Given the description of an element on the screen output the (x, y) to click on. 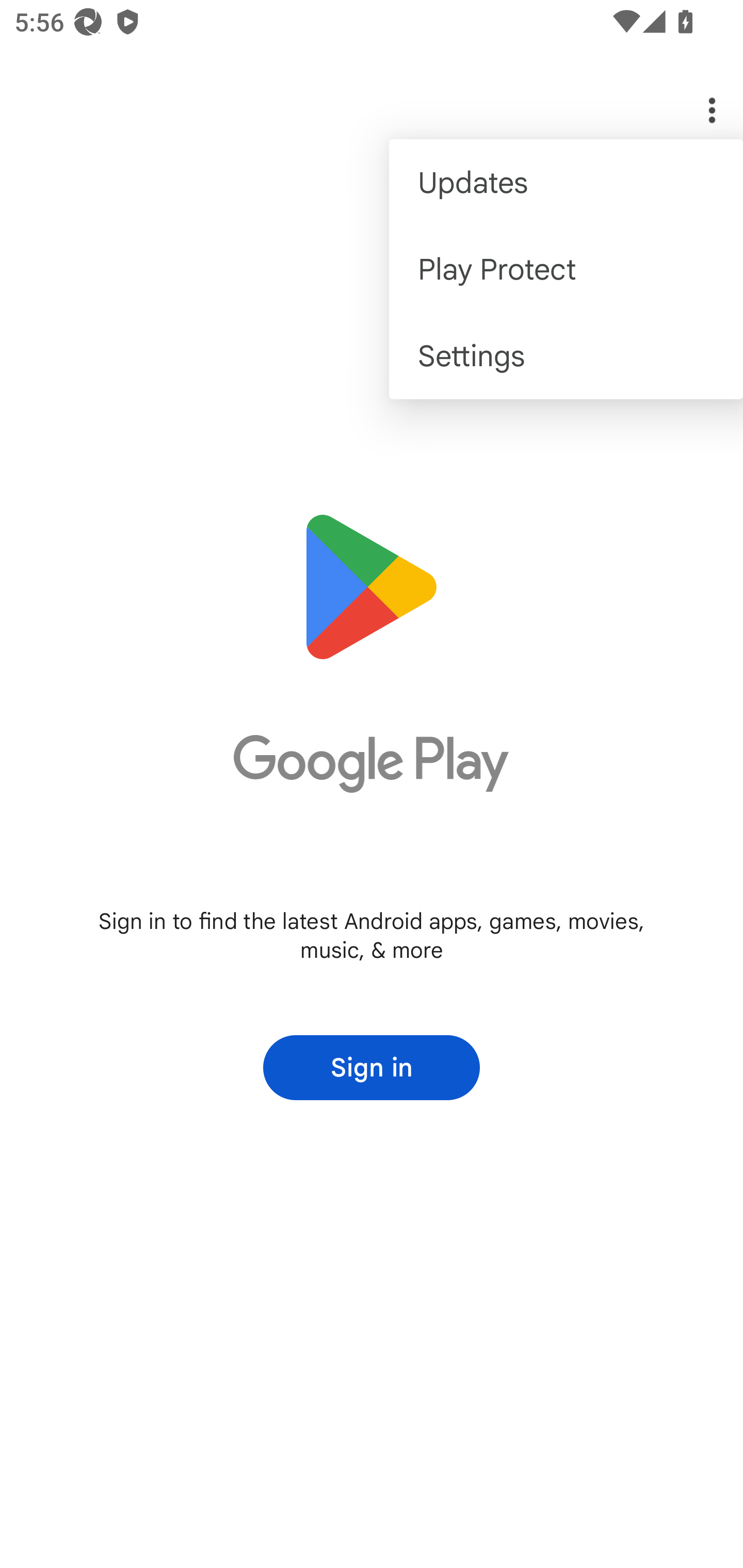
Updates (566, 182)
Play Protect (566, 268)
Settings (566, 355)
